Given the description of an element on the screen output the (x, y) to click on. 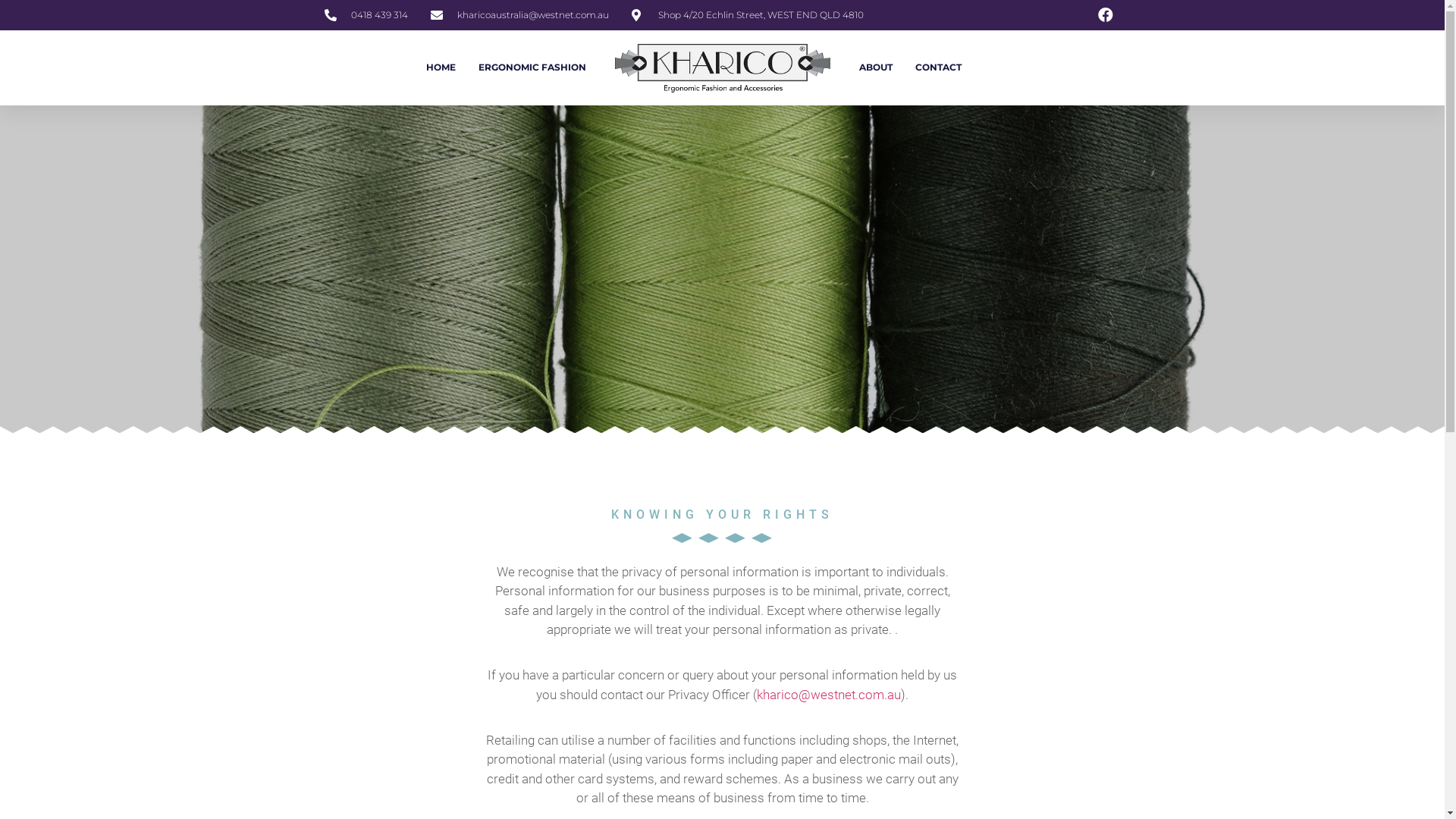
ABOUT Element type: text (874, 67)
kharico@westnet.com.au Element type: text (828, 694)
CONTACT Element type: text (937, 67)
ERGONOMIC FASHION Element type: text (531, 67)
HOME Element type: text (440, 67)
